Given the description of an element on the screen output the (x, y) to click on. 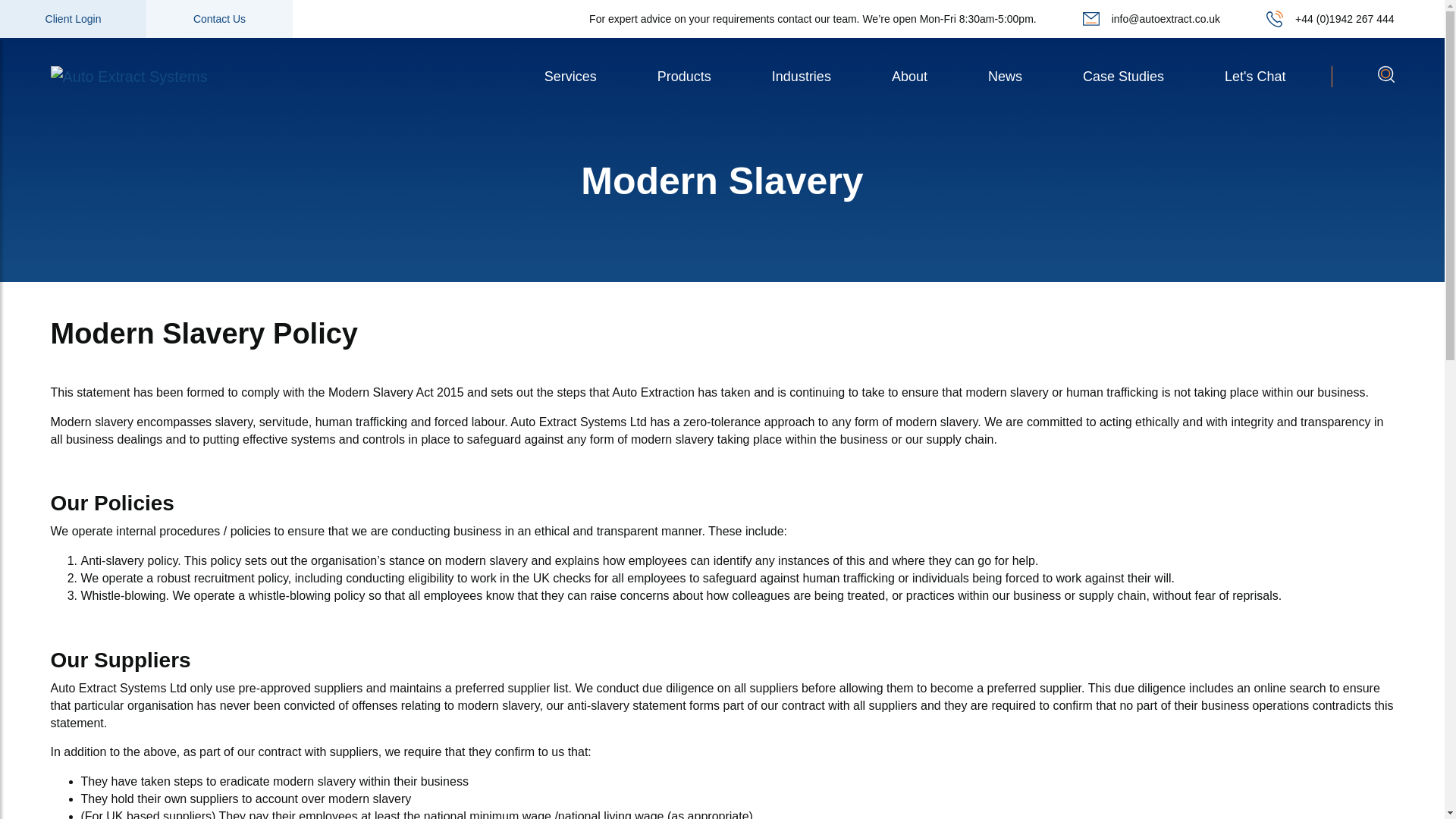
Contact Us (219, 18)
Services (570, 76)
About (909, 76)
News (1005, 76)
News (1005, 76)
Client Login (73, 18)
Let's Chat (1254, 76)
Case Studies (1122, 76)
Industries (801, 76)
Products (684, 76)
